Given the description of an element on the screen output the (x, y) to click on. 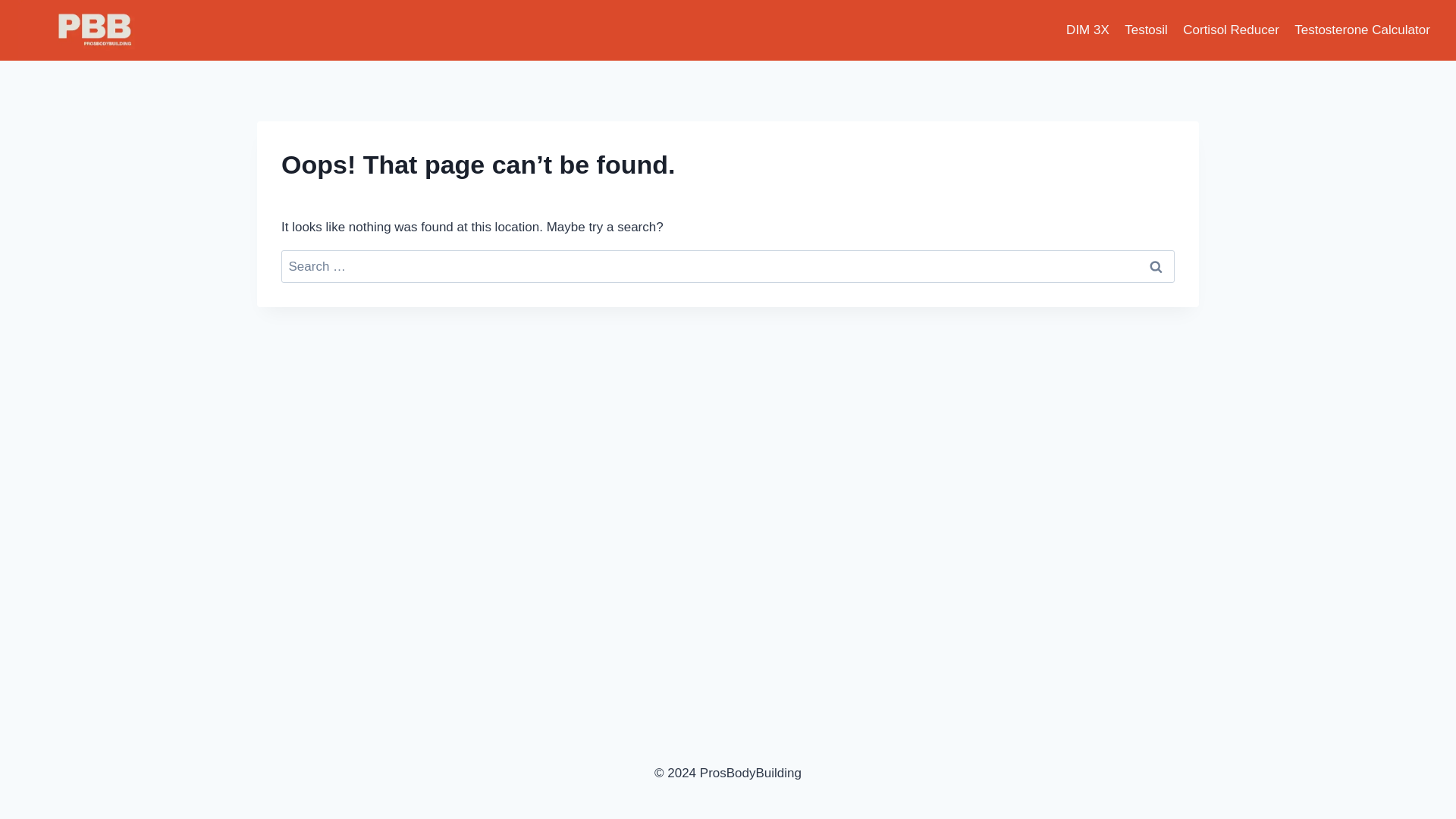
Cortisol Reducer (1230, 30)
Testosil (1145, 30)
DIM 3X (1087, 30)
Search (1155, 266)
Testosterone Calculator (1362, 30)
Search (1155, 266)
Search (1155, 266)
